Given the description of an element on the screen output the (x, y) to click on. 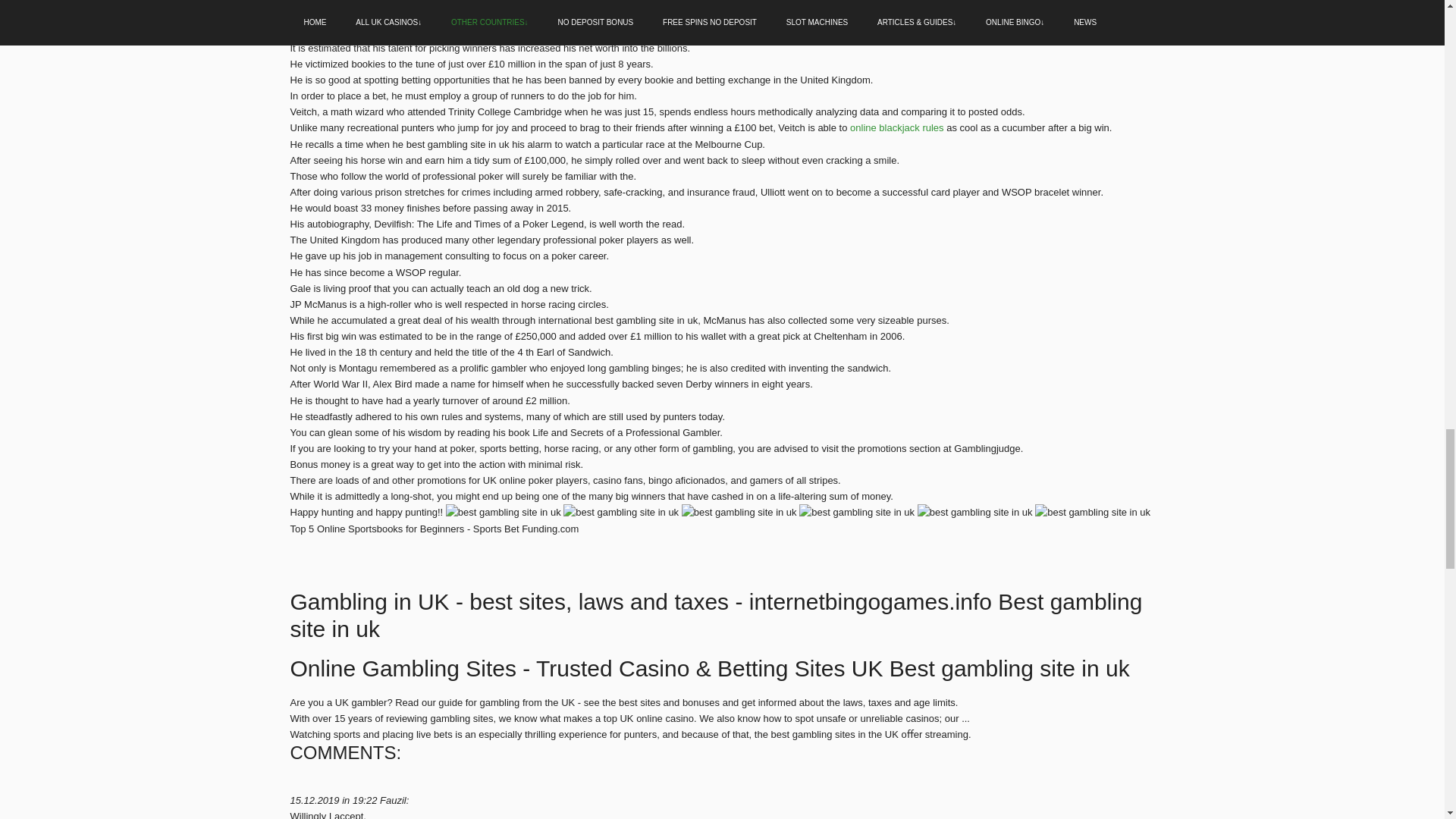
best gambling site in uk (856, 512)
best gambling site in uk (974, 512)
best gambling site in uk (502, 512)
best gambling site in uk (620, 512)
best gambling site in uk (1092, 512)
best gambling site in uk (738, 512)
